Given the description of an element on the screen output the (x, y) to click on. 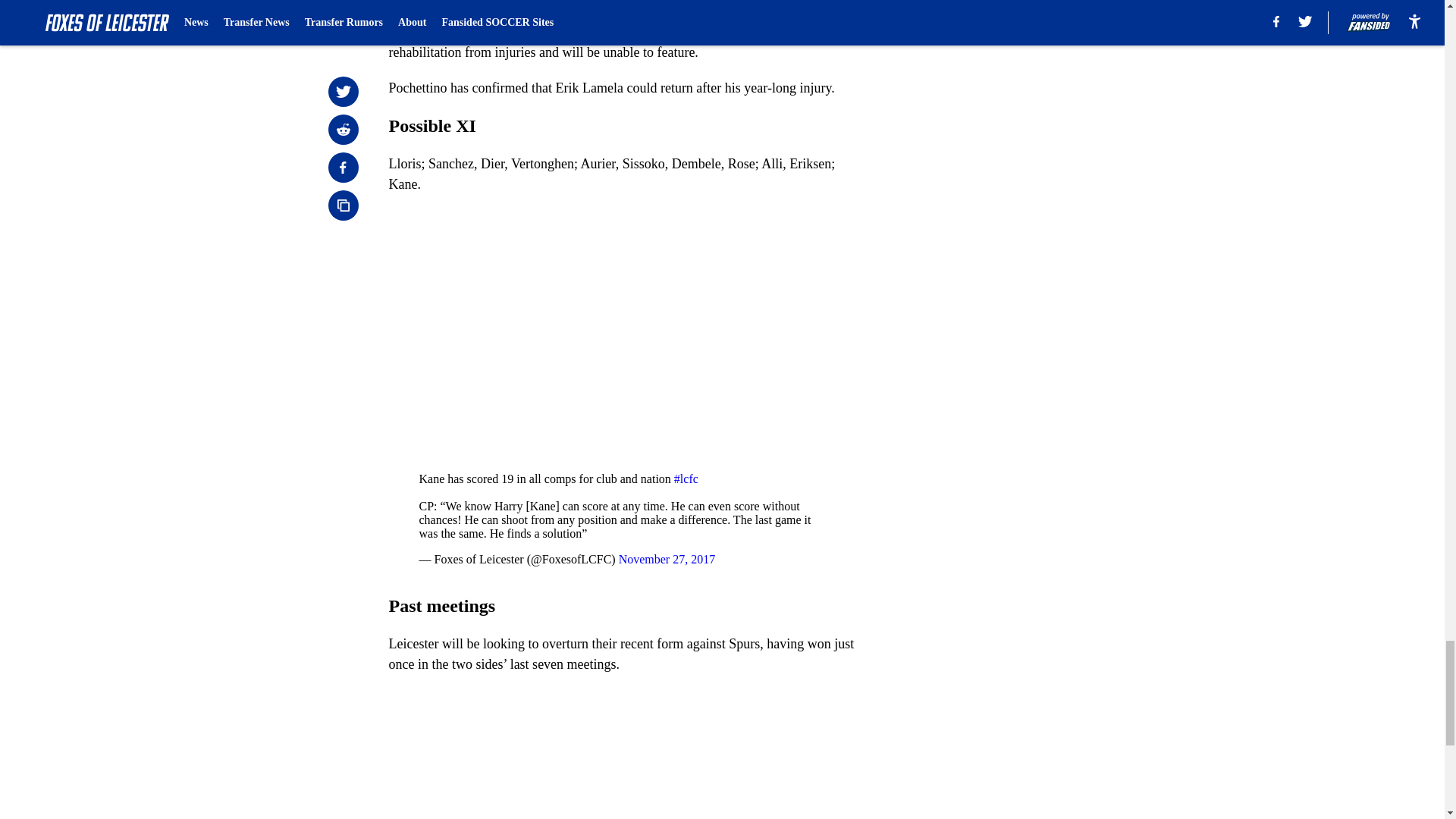
November 27, 2017 (667, 558)
